Given the description of an element on the screen output the (x, y) to click on. 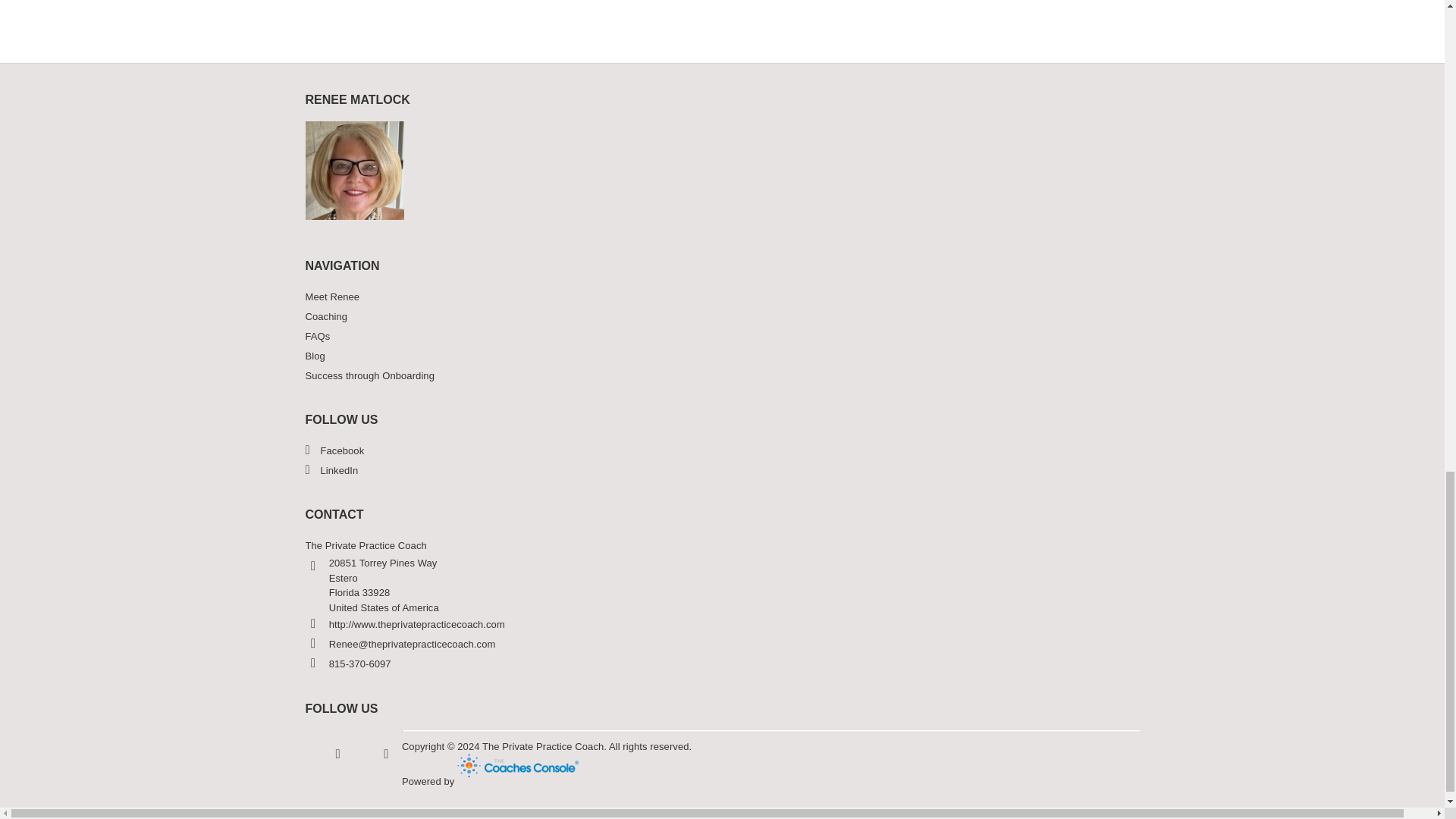
Meet Renee (721, 297)
FAQs (721, 336)
Success through Onboarding (721, 375)
Coaching (721, 316)
Blog (721, 356)
